Given the description of an element on the screen output the (x, y) to click on. 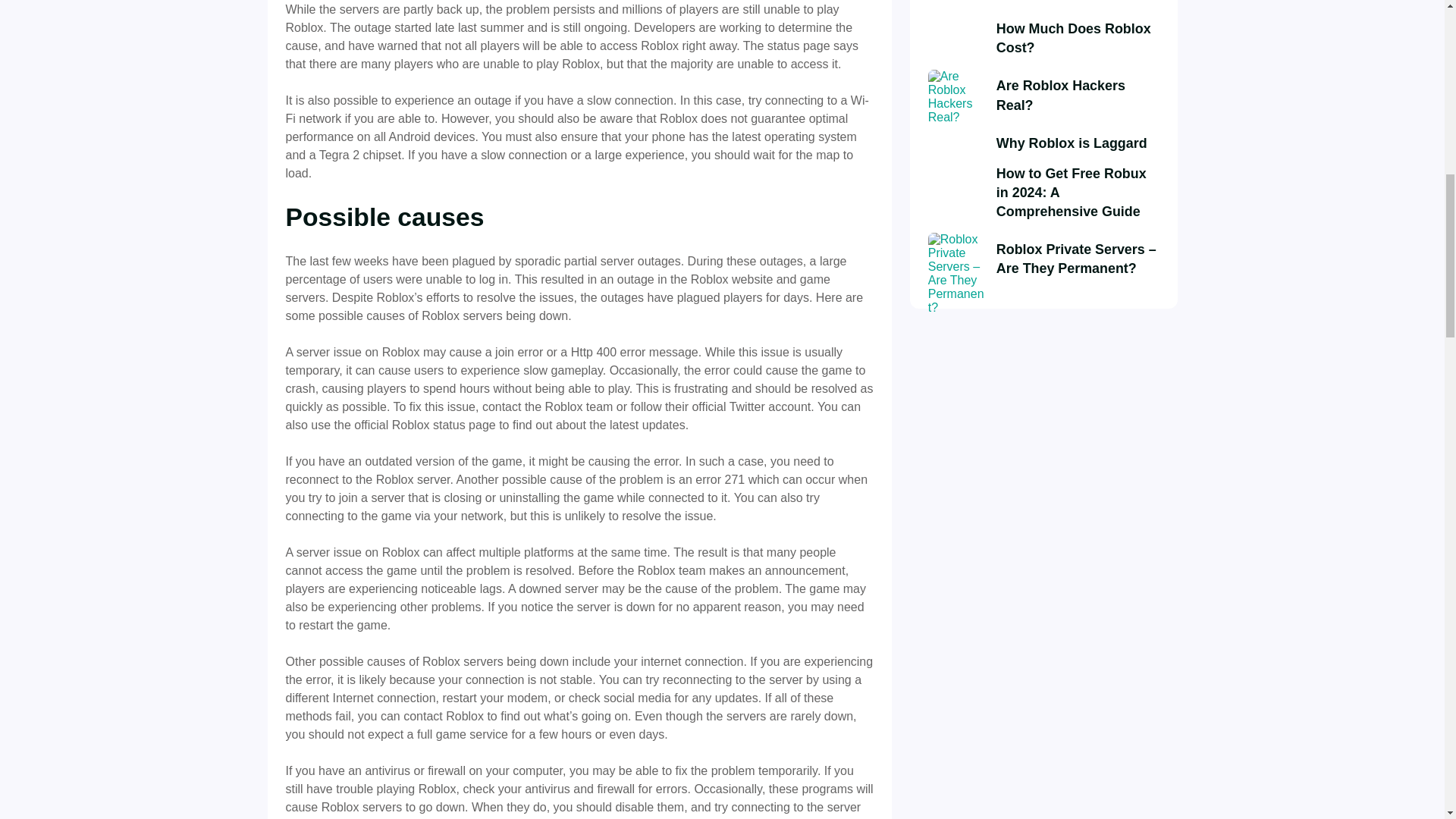
How to Get Free Robux in 2024: A Comprehensive Guide (1076, 192)
Why Roblox is Laggard (1071, 143)
Are Roblox Hackers Real? (1076, 95)
How Much Does Roblox Cost? (1076, 38)
